Given the description of an element on the screen output the (x, y) to click on. 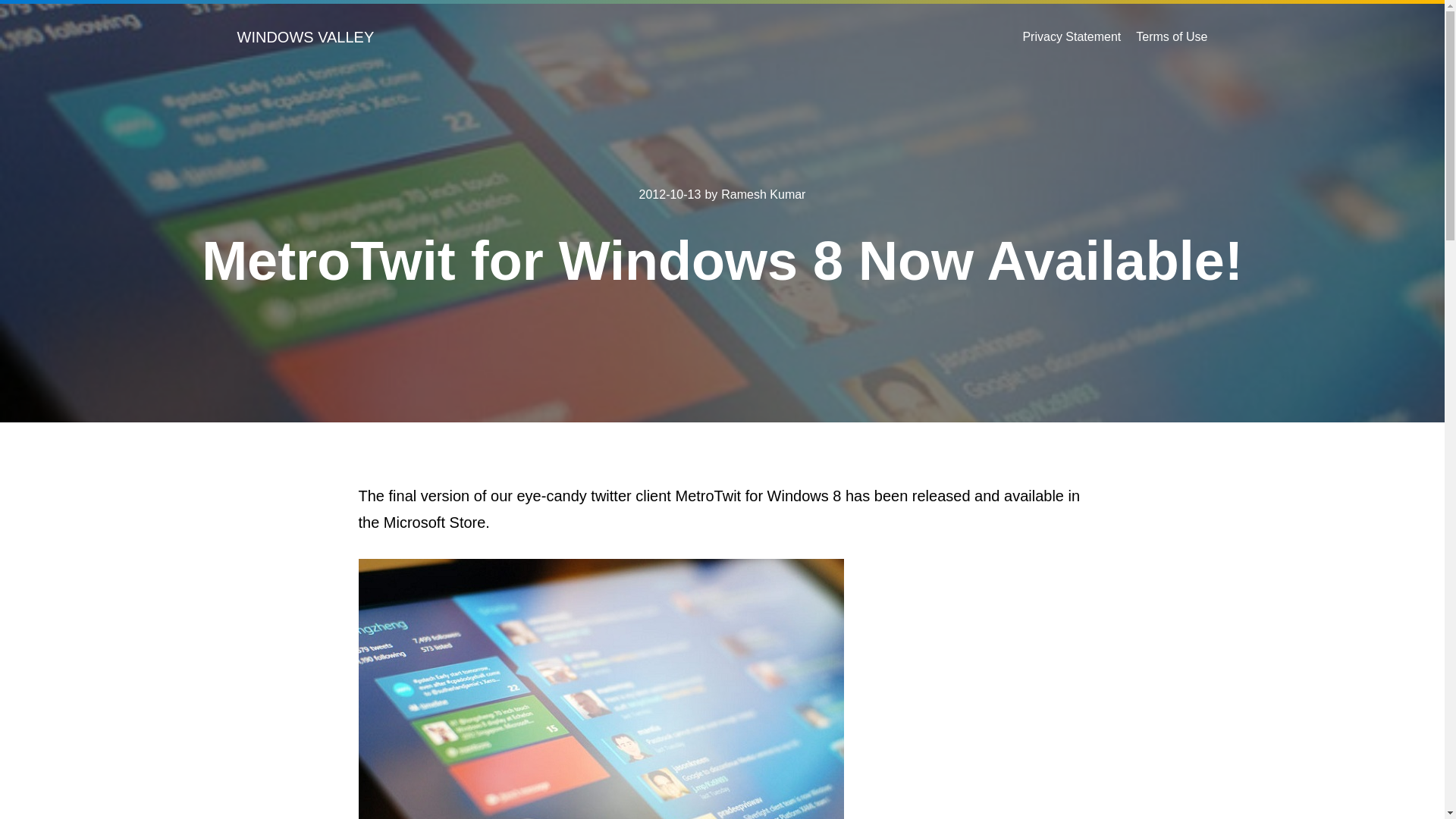
MetroTwit for Windows 8 (600, 688)
WINDOWS VALLEY (304, 36)
Privacy Statement (1071, 36)
Terms of Use (1171, 36)
